Given the description of an element on the screen output the (x, y) to click on. 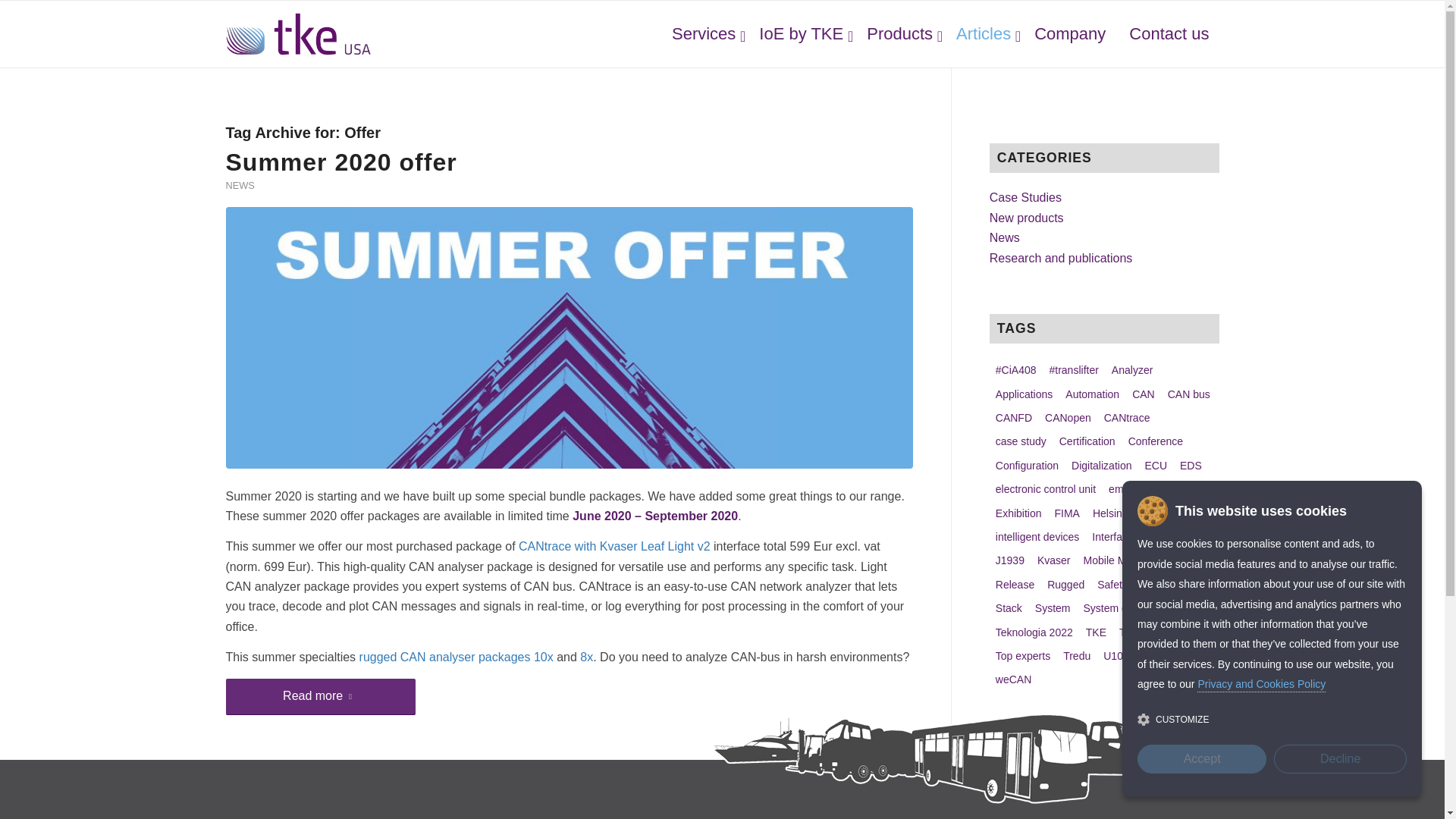
8x (585, 656)
Articles (981, 33)
NEWS (239, 184)
Read more (319, 696)
IoE by TKE (799, 33)
Research and publications (1061, 257)
CANtrace with Kvaser Leaf Light v2 (614, 545)
Services (701, 33)
News (1005, 237)
Products (897, 33)
rugged CAN analyser packages 10x (456, 656)
Contact us (1166, 33)
Summer 2020 offer (341, 162)
New products (1027, 217)
